Given the description of an element on the screen output the (x, y) to click on. 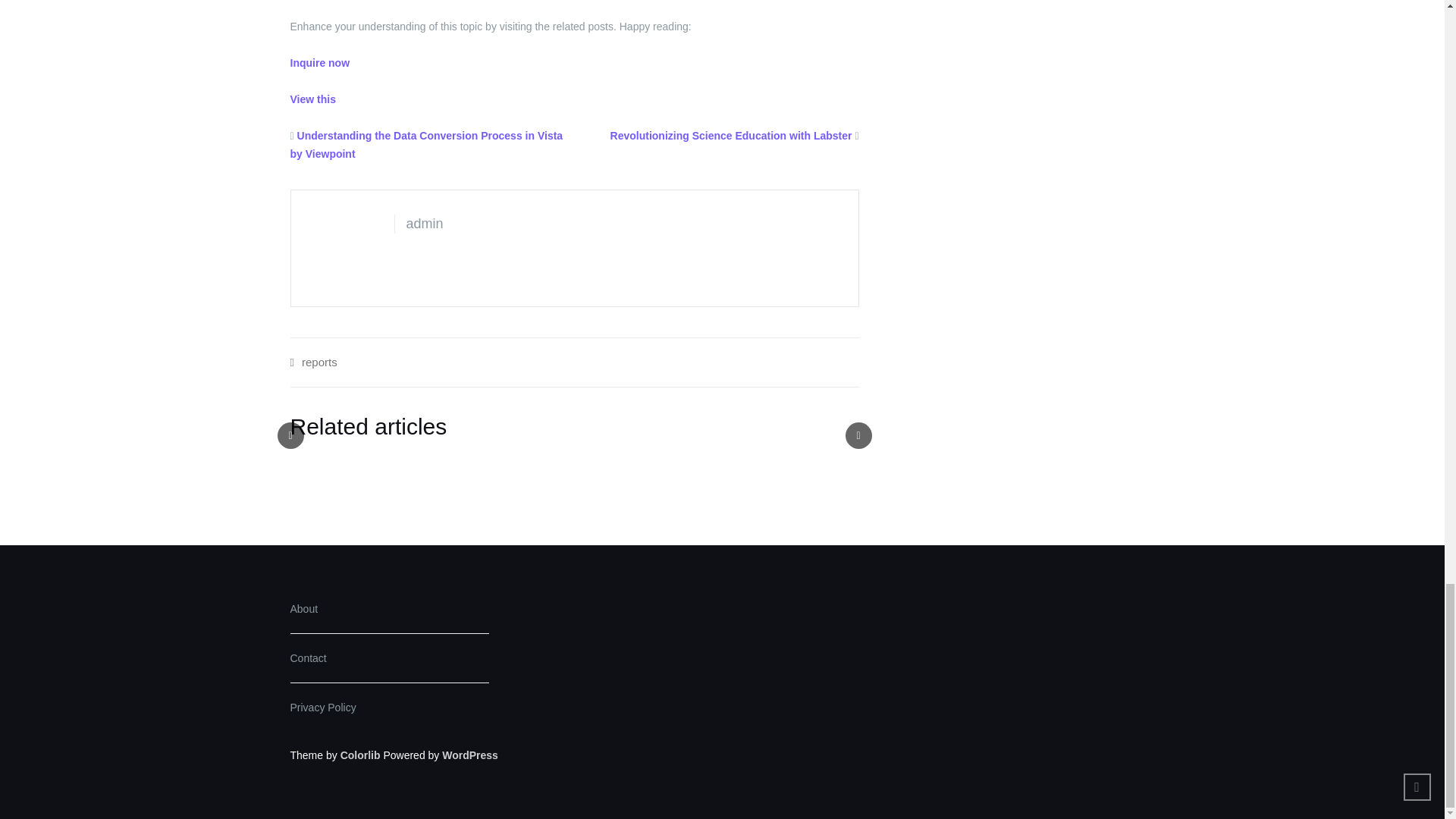
View this (311, 99)
WordPress.org (469, 755)
reports (319, 361)
Colorlib (360, 755)
Revolutionizing Science Education with Labster (730, 135)
Inquire now (319, 62)
